Given the description of an element on the screen output the (x, y) to click on. 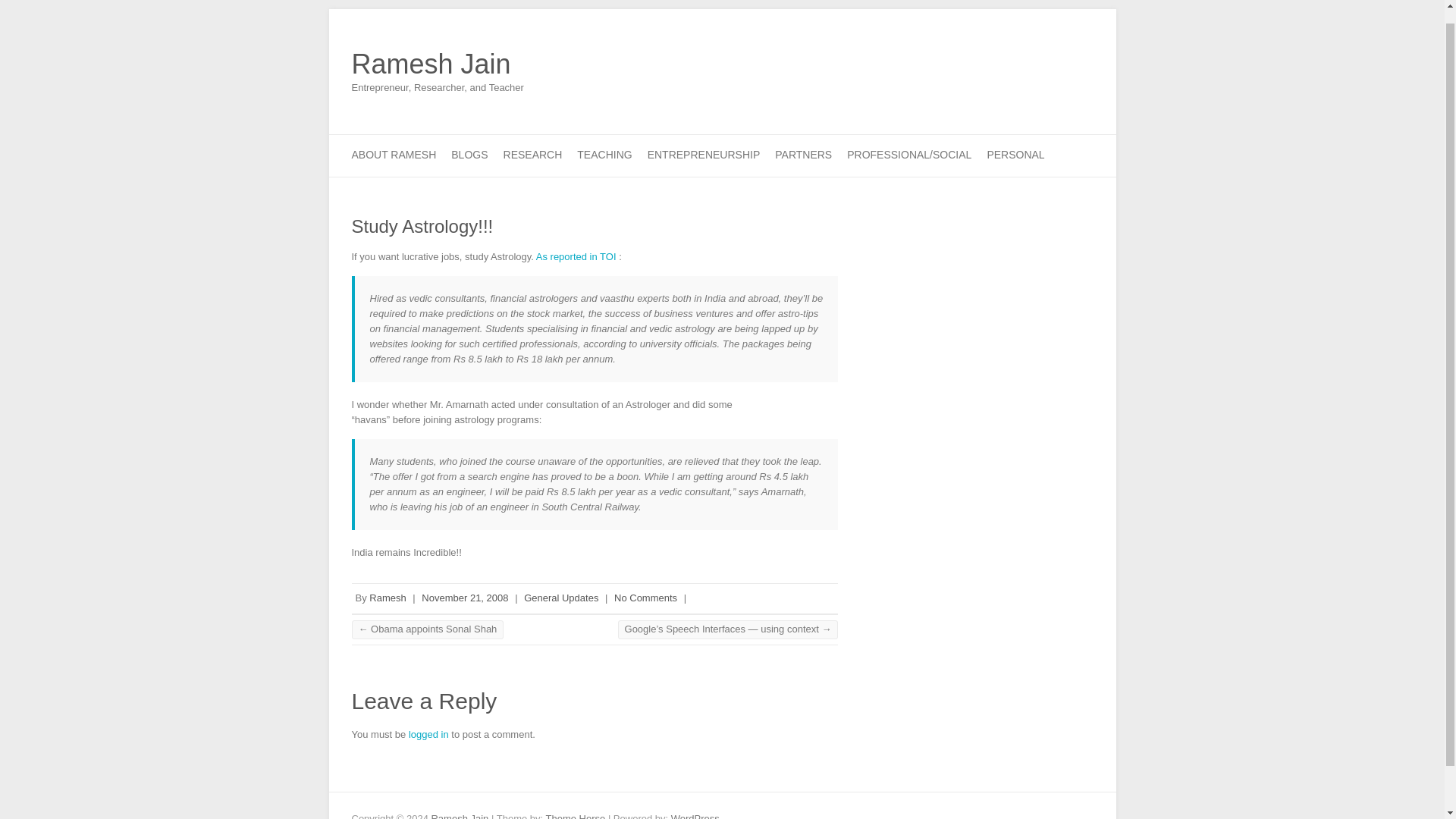
RESEARCH (532, 155)
As reported in TOI (576, 256)
No Comments (645, 597)
PARTNERS (802, 155)
7:13 am (465, 597)
TEACHING (603, 155)
Ramesh Jain (438, 64)
General Updates (561, 597)
PERSONAL (1015, 155)
November 21, 2008 (465, 597)
